Given the description of an element on the screen output the (x, y) to click on. 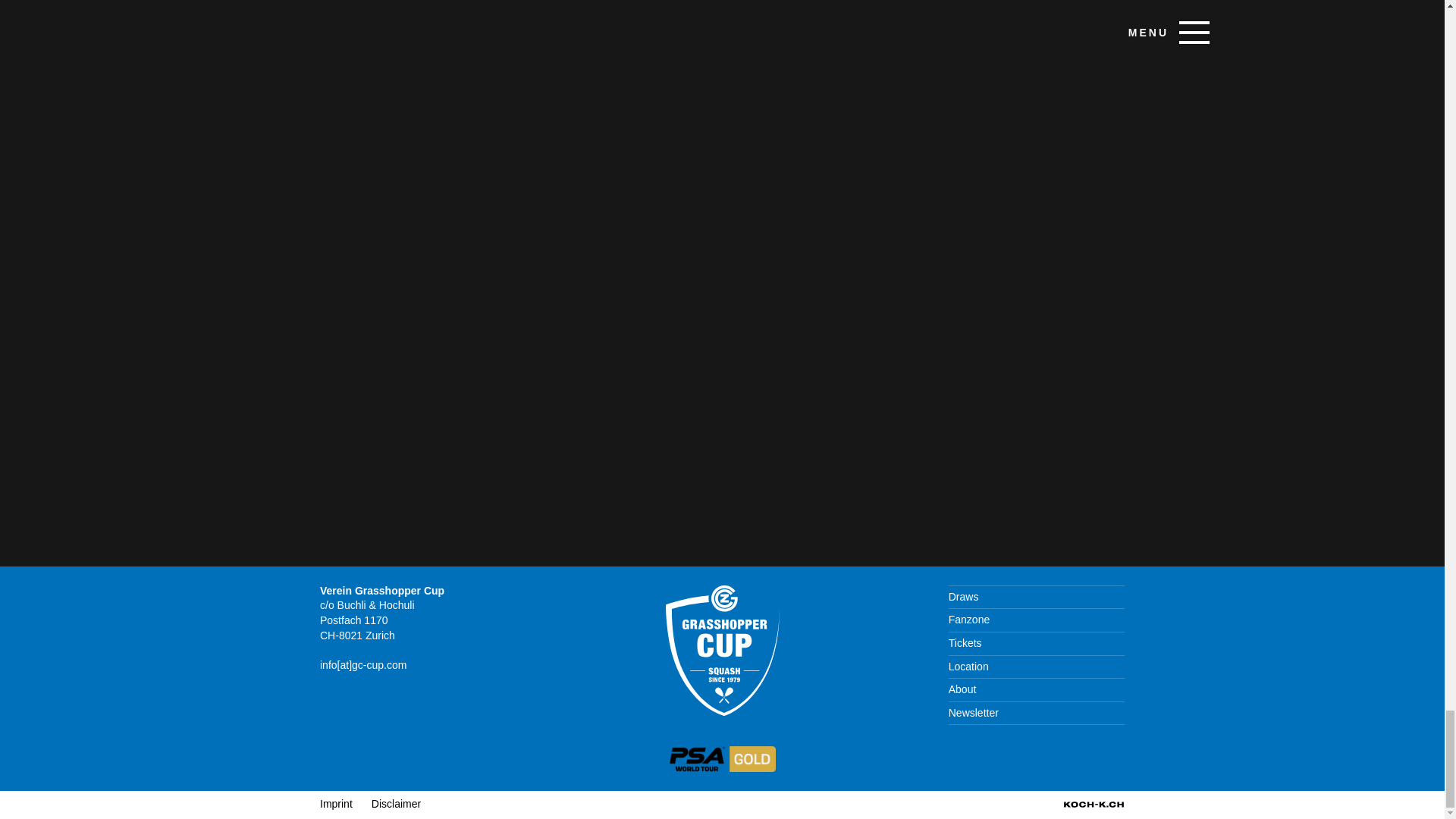
KOCH KOMMUNIKATION (1093, 804)
